Given the description of an element on the screen output the (x, y) to click on. 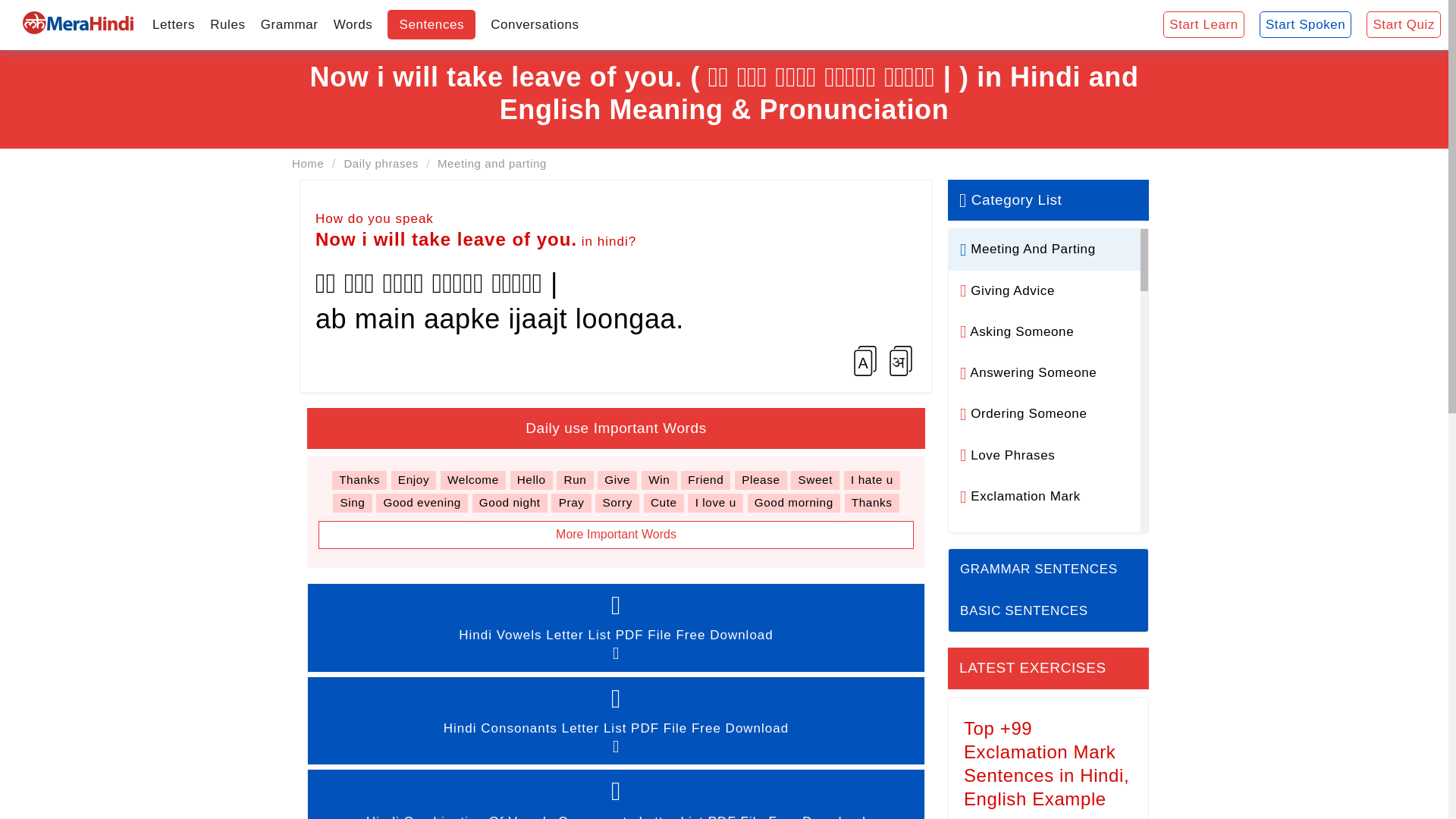
Copy Hindi Letter (900, 360)
Rules (226, 24)
Sentences (431, 24)
Copy English Letter (865, 360)
Start Learn (1204, 25)
Words (353, 24)
Letters (173, 24)
Start Spoken (1305, 25)
Grammar (289, 24)
Conversations (534, 24)
